Given the description of an element on the screen output the (x, y) to click on. 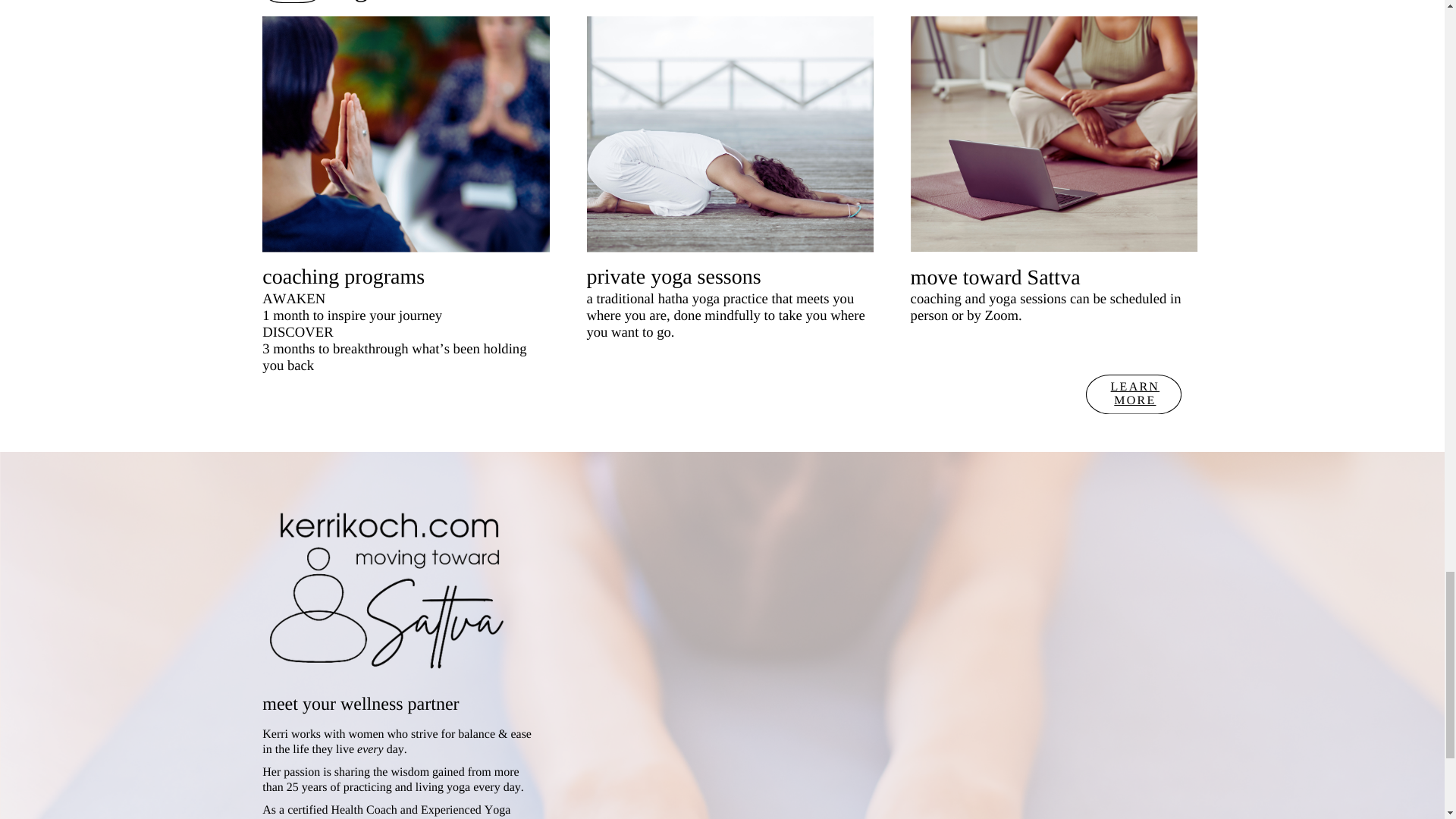
MORE (1134, 400)
LEARN (1135, 386)
